Given the description of an element on the screen output the (x, y) to click on. 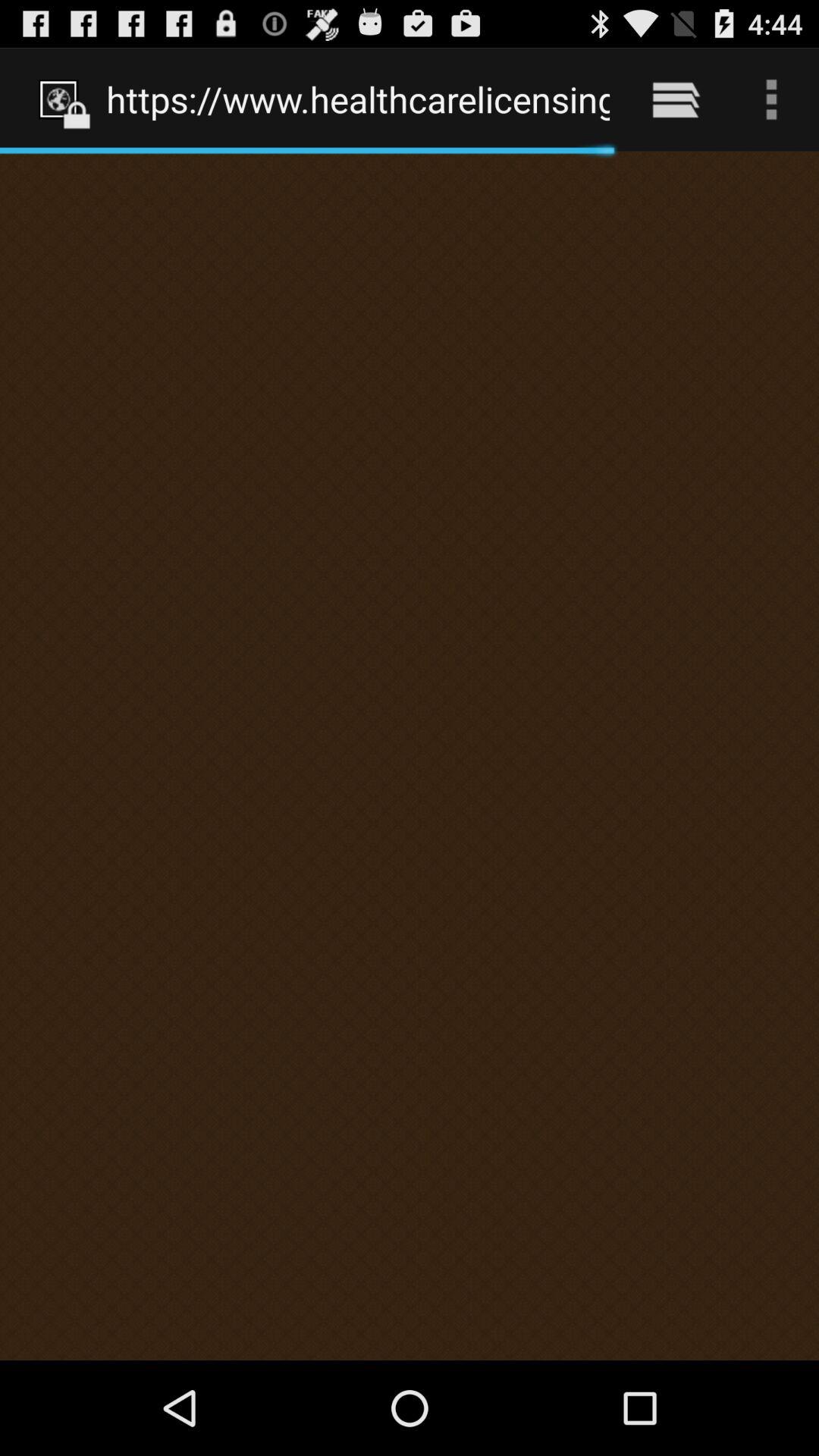
turn off the https www healthcarelicensing item (357, 99)
